Given the description of an element on the screen output the (x, y) to click on. 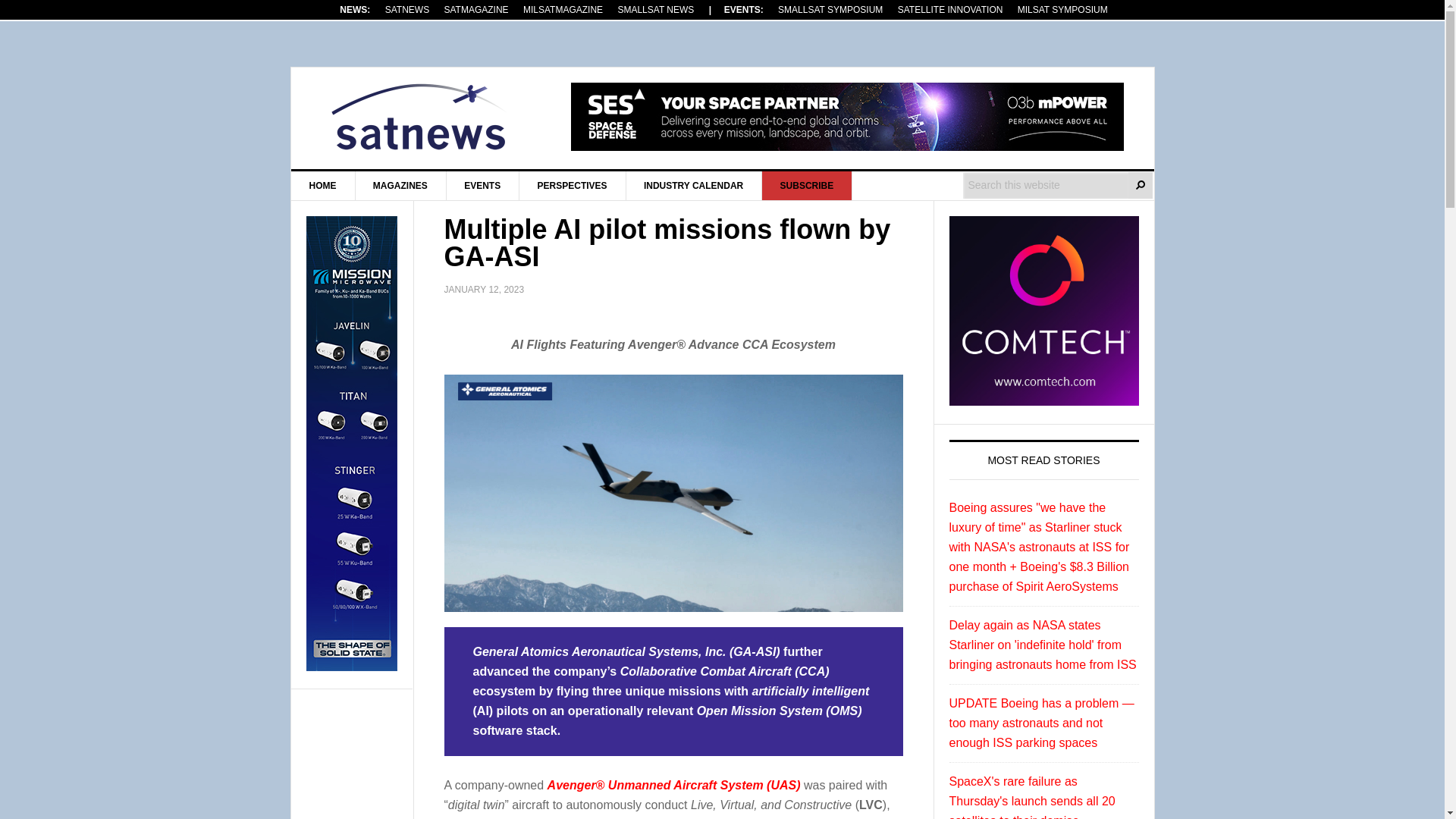
SEARCH (1140, 185)
HOME (323, 185)
SATNEWS (406, 9)
SUBSCRIBE (807, 185)
EVENTS (482, 185)
SATNEWS (419, 116)
MILSATMAGAZINE (562, 9)
SMALLSAT SYMPOSIUM (829, 9)
MAGAZINES (400, 185)
INDUSTRY CALENDAR (693, 185)
NEWS: (354, 9)
